Given the description of an element on the screen output the (x, y) to click on. 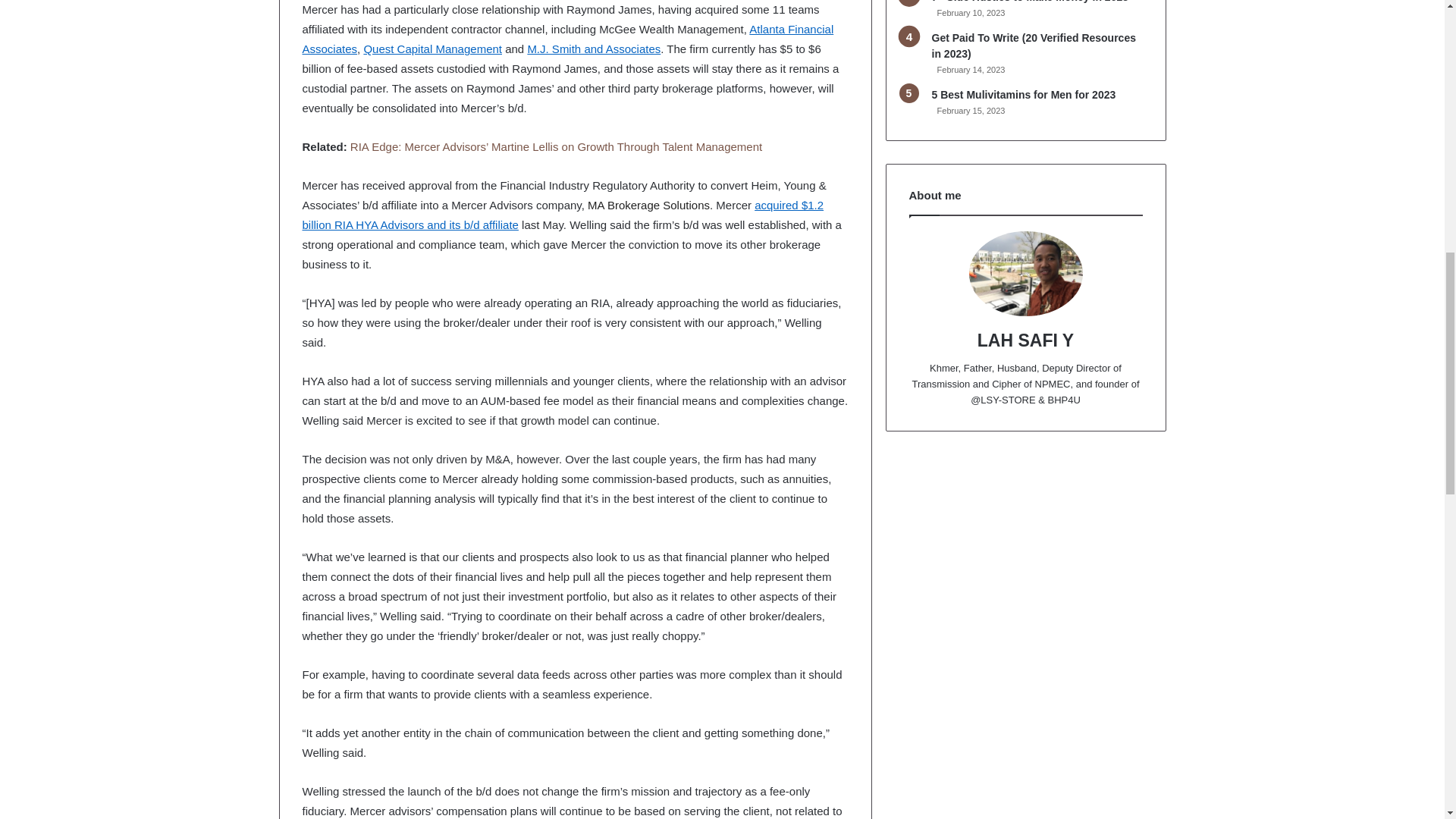
M.J. Smith and Associates (594, 48)
Quest Capital Management (432, 48)
Atlanta Financial Associates (566, 38)
